Given the description of an element on the screen output the (x, y) to click on. 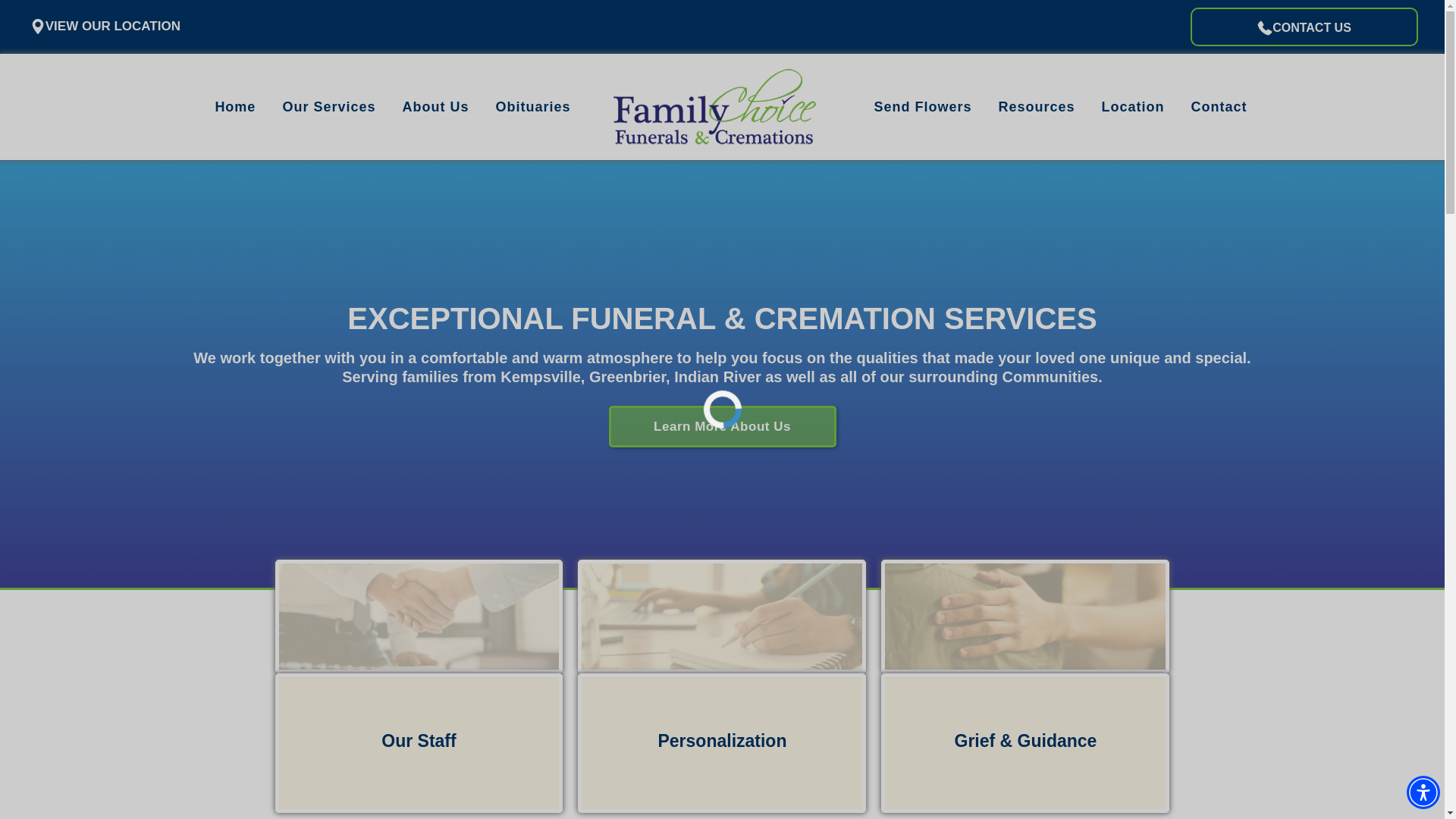
Accessibility Menu (1422, 792)
Location (1133, 106)
Home (235, 106)
Personalization (722, 743)
Our Staff (418, 743)
Send Flowers (922, 106)
Obituaries (532, 106)
Logo (714, 106)
Image Title (1025, 616)
CONTACT US (1304, 29)
Image Title (720, 616)
Image Title (419, 616)
Learn More About Us (721, 426)
VIEW OUR LOCATION (105, 27)
Contact (1219, 106)
